Given the description of an element on the screen output the (x, y) to click on. 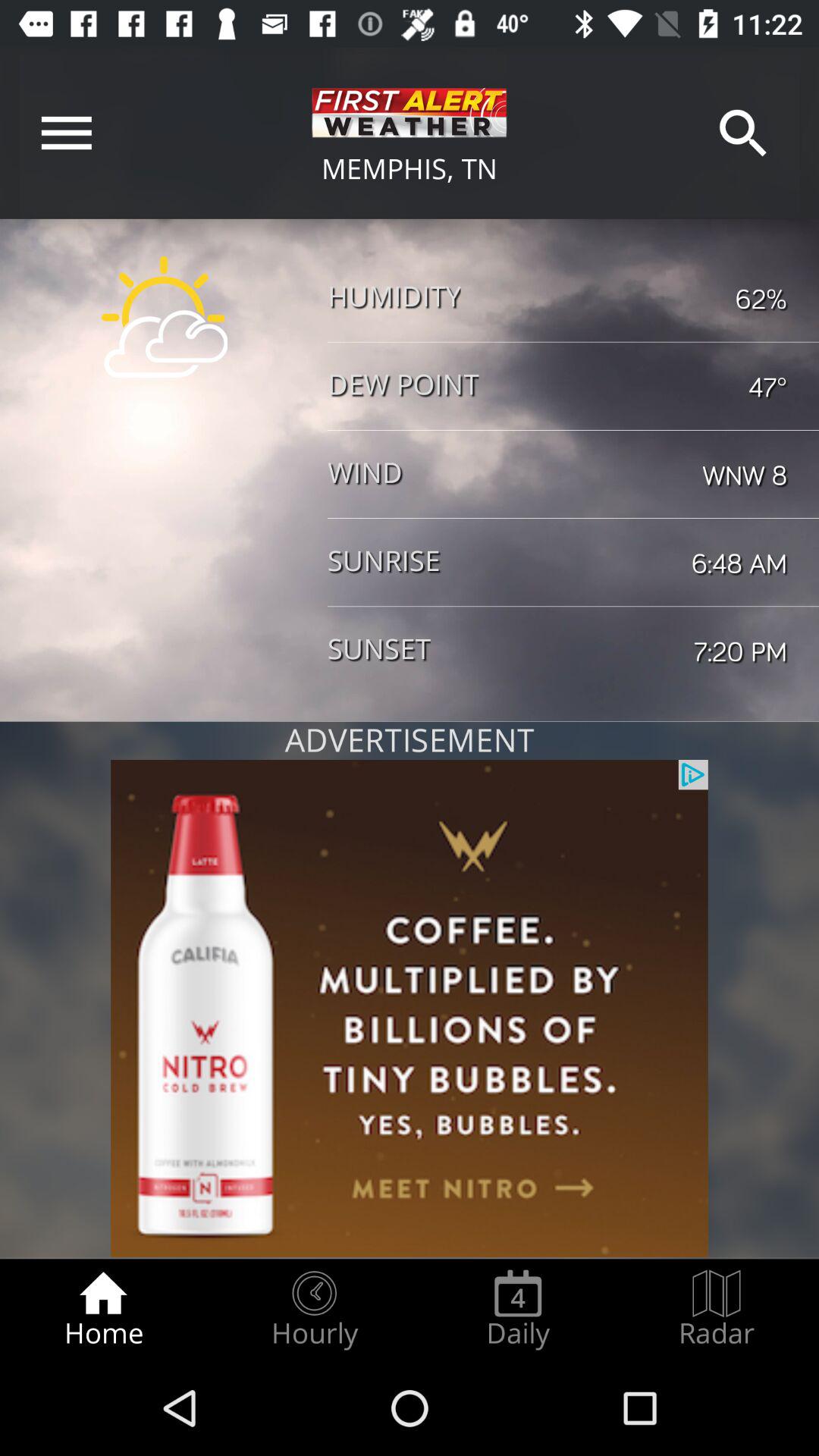
jump until the home icon (103, 1309)
